Given the description of an element on the screen output the (x, y) to click on. 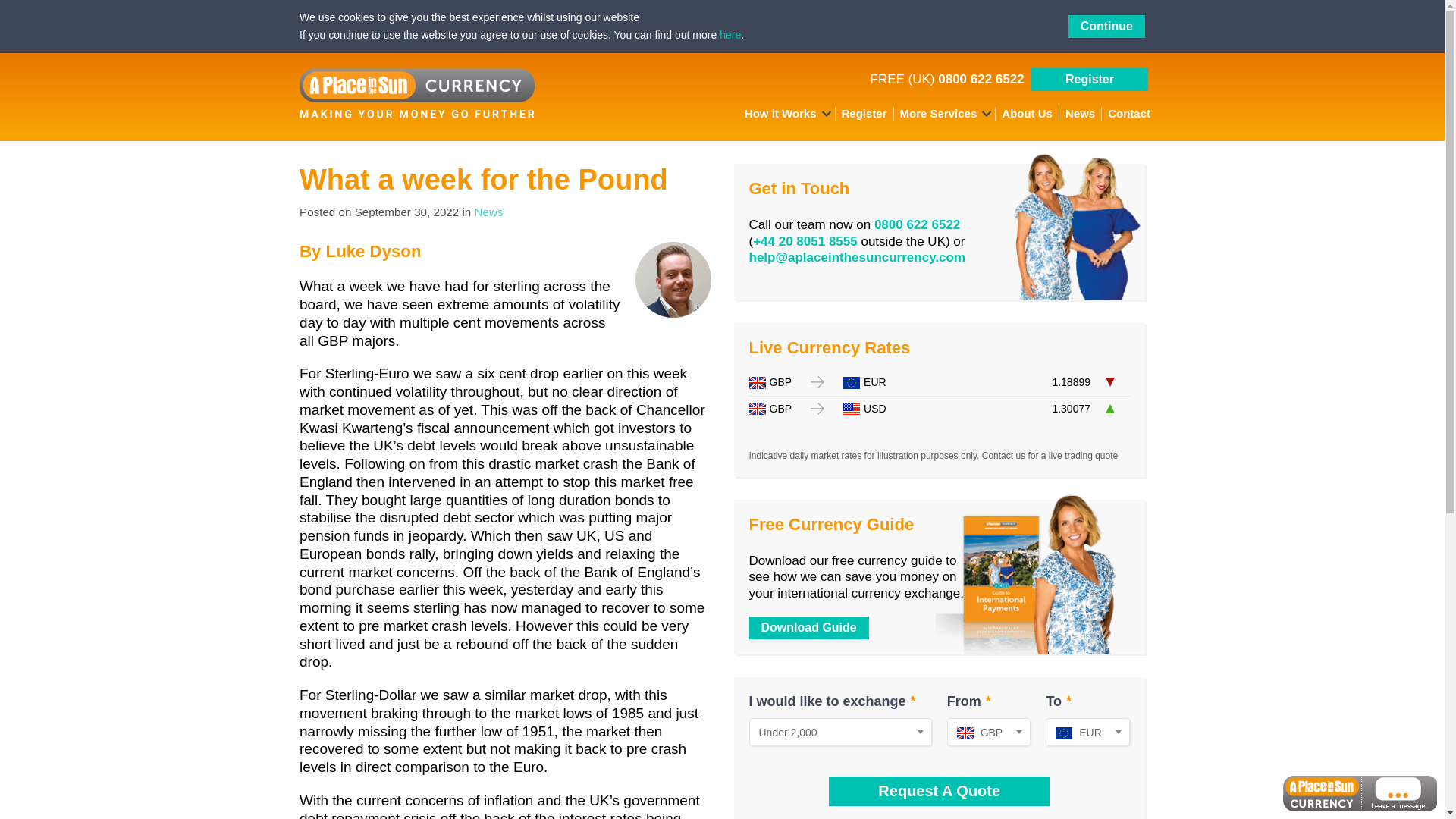
About Us (1027, 114)
How it Works (786, 114)
Register (1089, 78)
Download Guide (809, 627)
here (730, 34)
0800 622 6522 (917, 224)
News (1080, 114)
Request A Quote (938, 790)
Continue (1106, 26)
Request A Quote (938, 790)
GBP (988, 731)
Register (864, 114)
0800 622 6522 (980, 79)
News (488, 211)
Under 2,000 (839, 731)
